Given the description of an element on the screen output the (x, y) to click on. 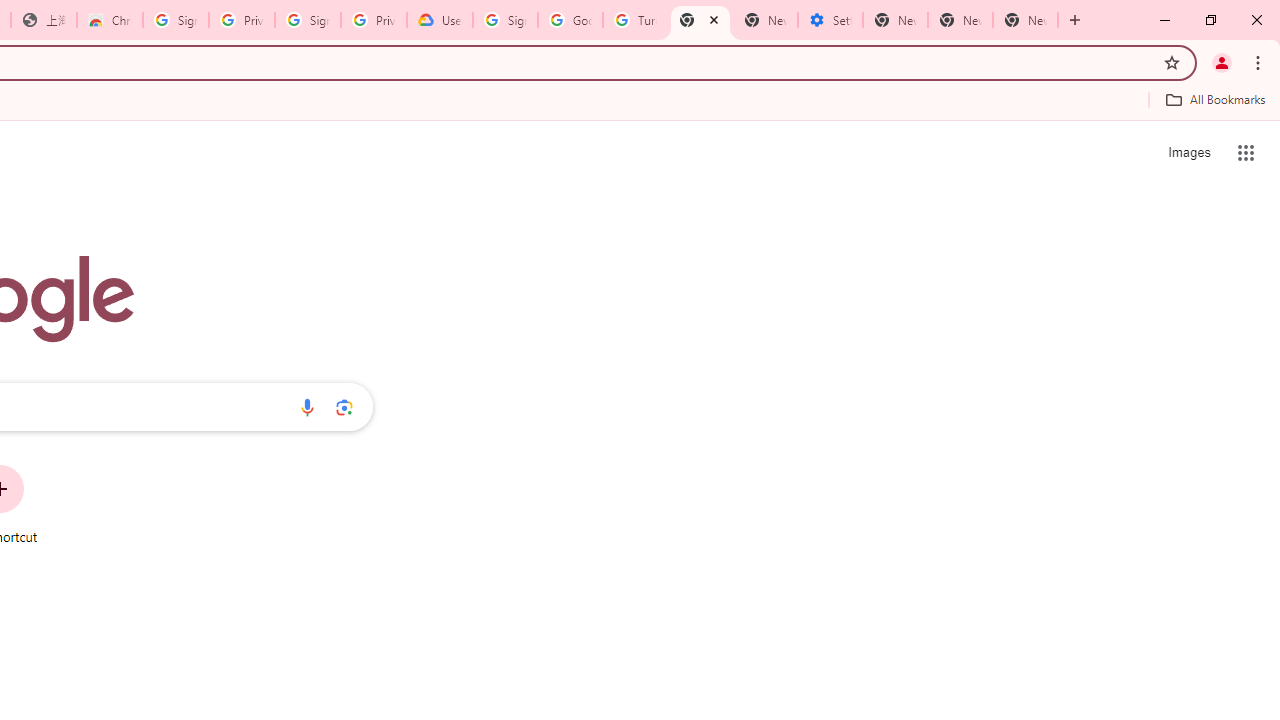
New Tab (700, 20)
Search for Images  (1188, 152)
Settings - System (829, 20)
Search by voice (307, 407)
Sign in - Google Accounts (307, 20)
Sign in - Google Accounts (175, 20)
Google Account Help (569, 20)
